Given the description of an element on the screen output the (x, y) to click on. 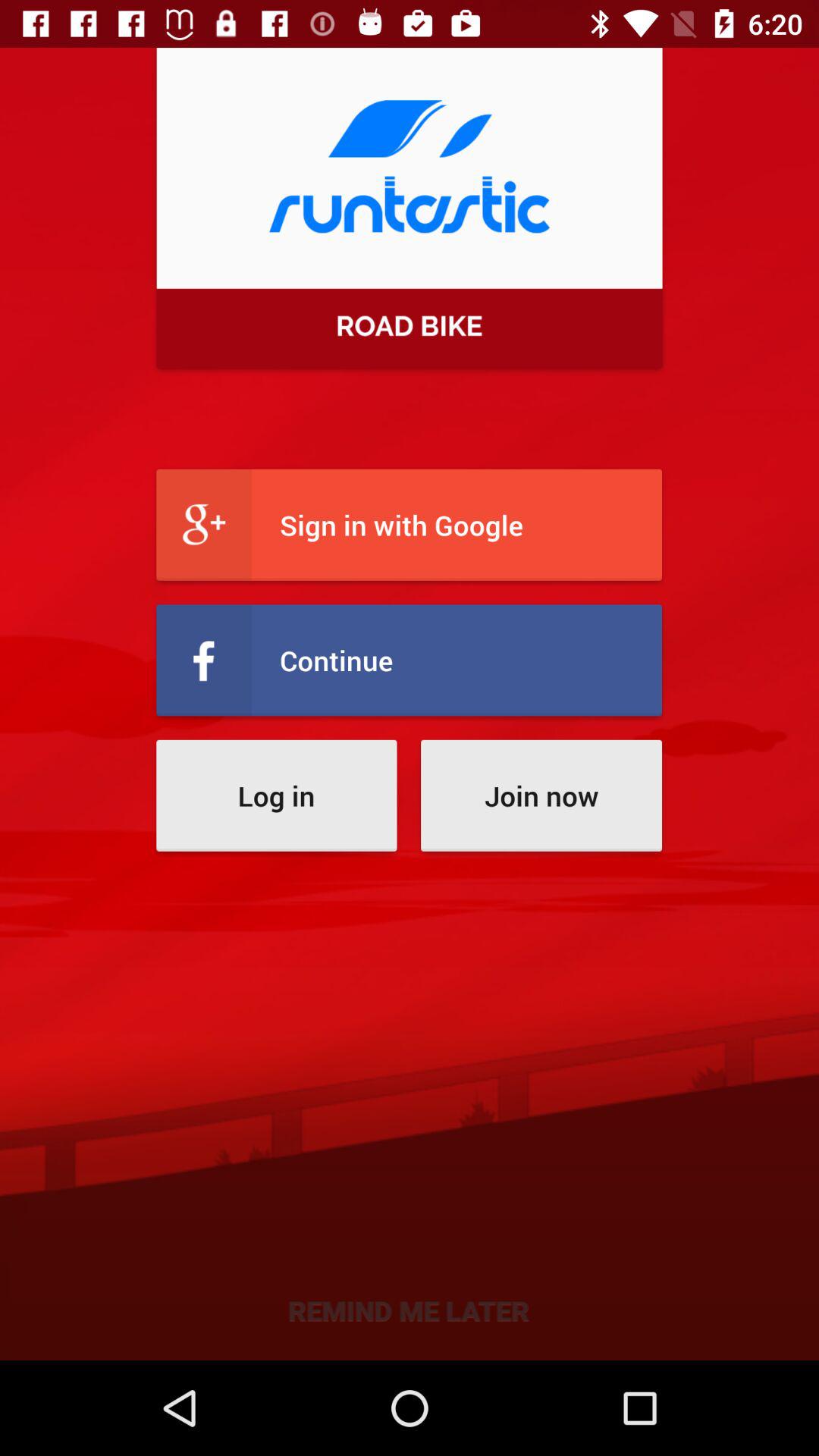
swipe to the continue item (409, 660)
